Given the description of an element on the screen output the (x, y) to click on. 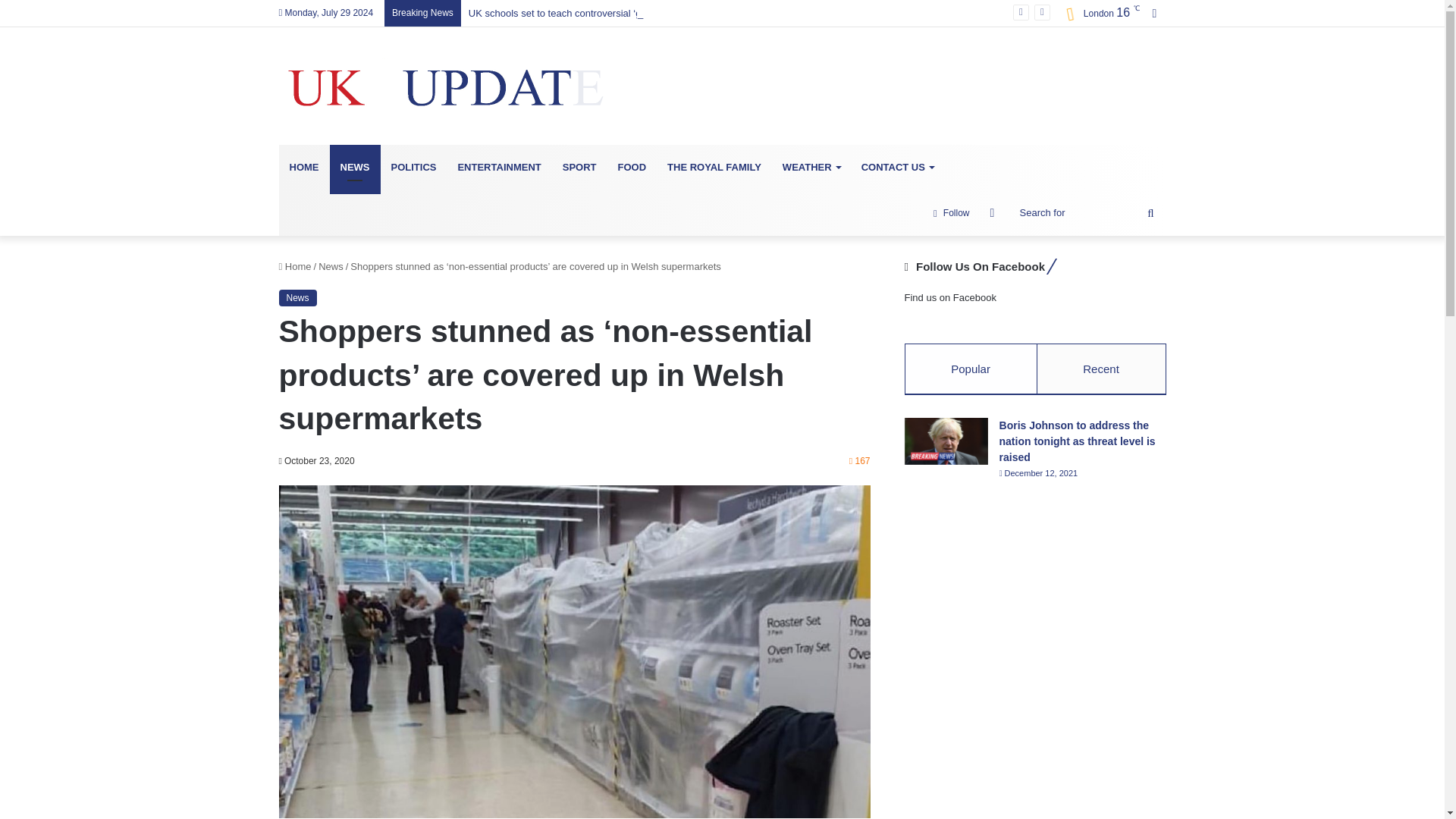
Recent (1101, 368)
Follow (950, 212)
NEWS (354, 167)
CONTACT US (896, 167)
Clear Sky (1098, 13)
WEATHER (810, 167)
Search for (1088, 212)
Find us on Facebook (949, 297)
Home (295, 266)
THE ROYAL FAMILY (713, 167)
SPORT (579, 167)
HOME (304, 167)
FOOD (632, 167)
News (330, 266)
News (298, 297)
